Given the description of an element on the screen output the (x, y) to click on. 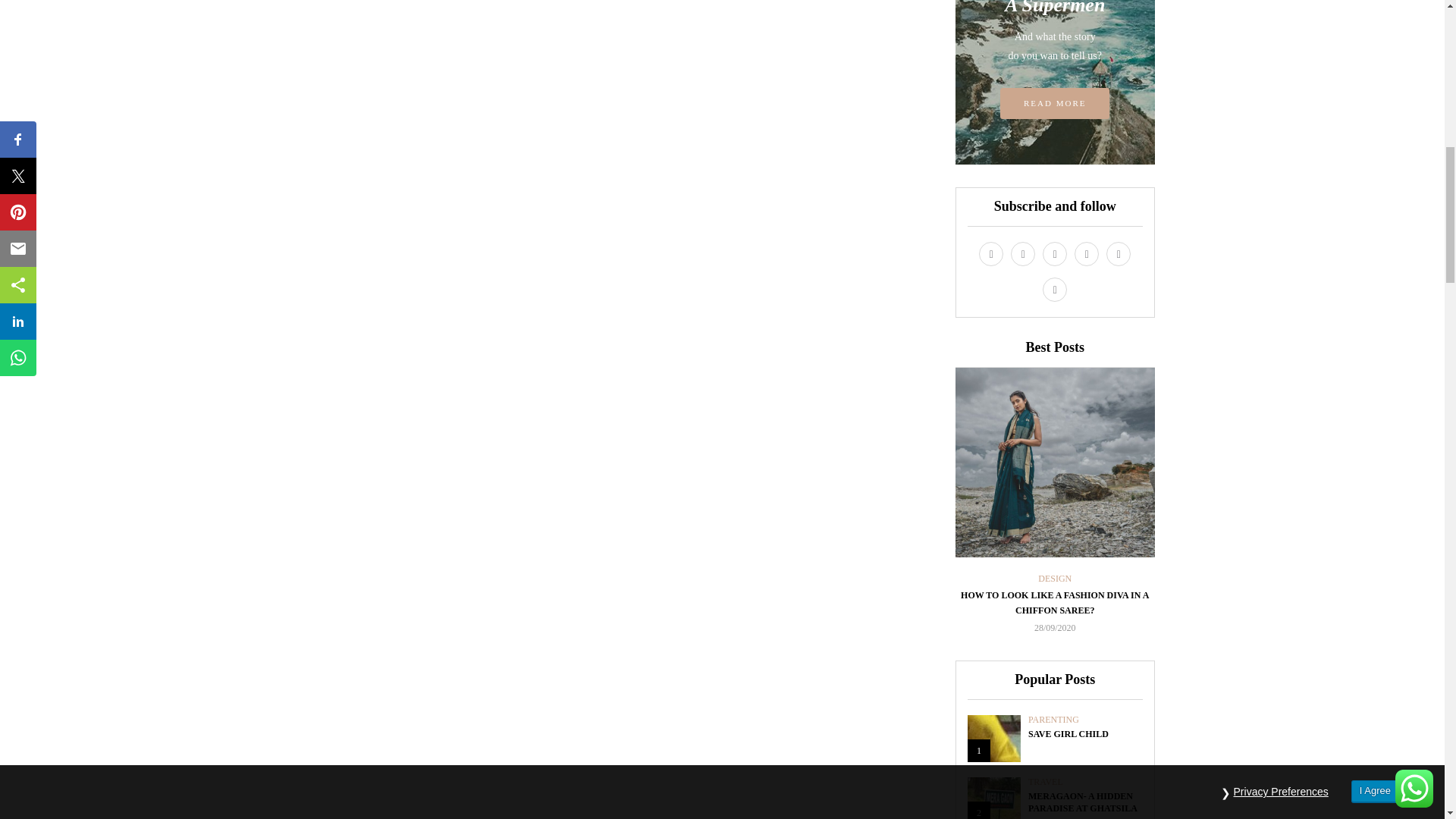
Advertisement (611, 77)
